Given the description of an element on the screen output the (x, y) to click on. 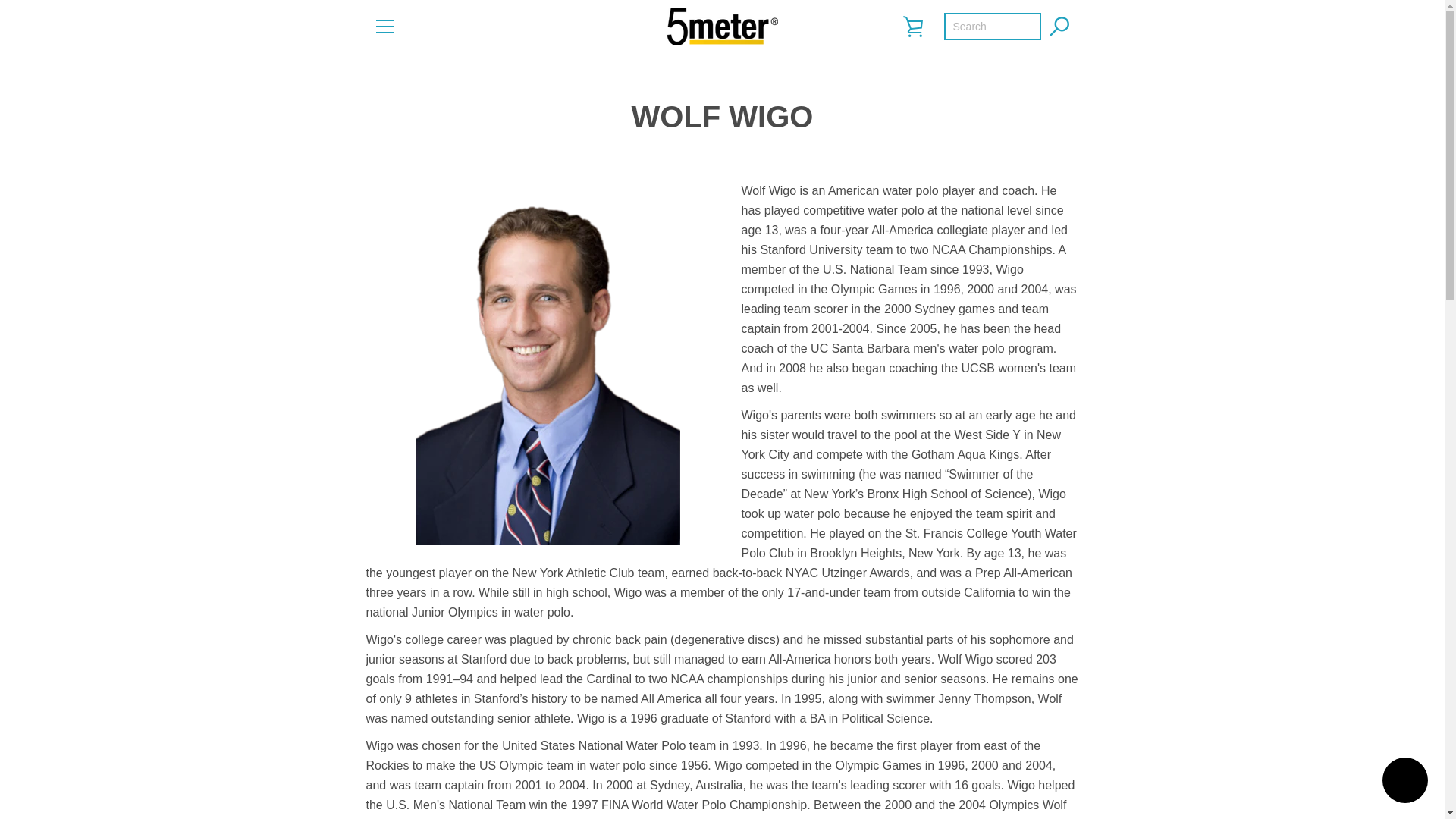
5meter Water Polo Camps on Pinterest (424, 768)
5meter Water Polo Camps on Facebook (372, 768)
5meter Water Polo Camps on Instagram (452, 768)
Water Polo Website (1003, 768)
YouTube (477, 768)
CONTACT (397, 665)
Shopify online store chat (1404, 781)
5meter Water Polo Camps (985, 758)
FAQS (386, 688)
